Given the description of an element on the screen output the (x, y) to click on. 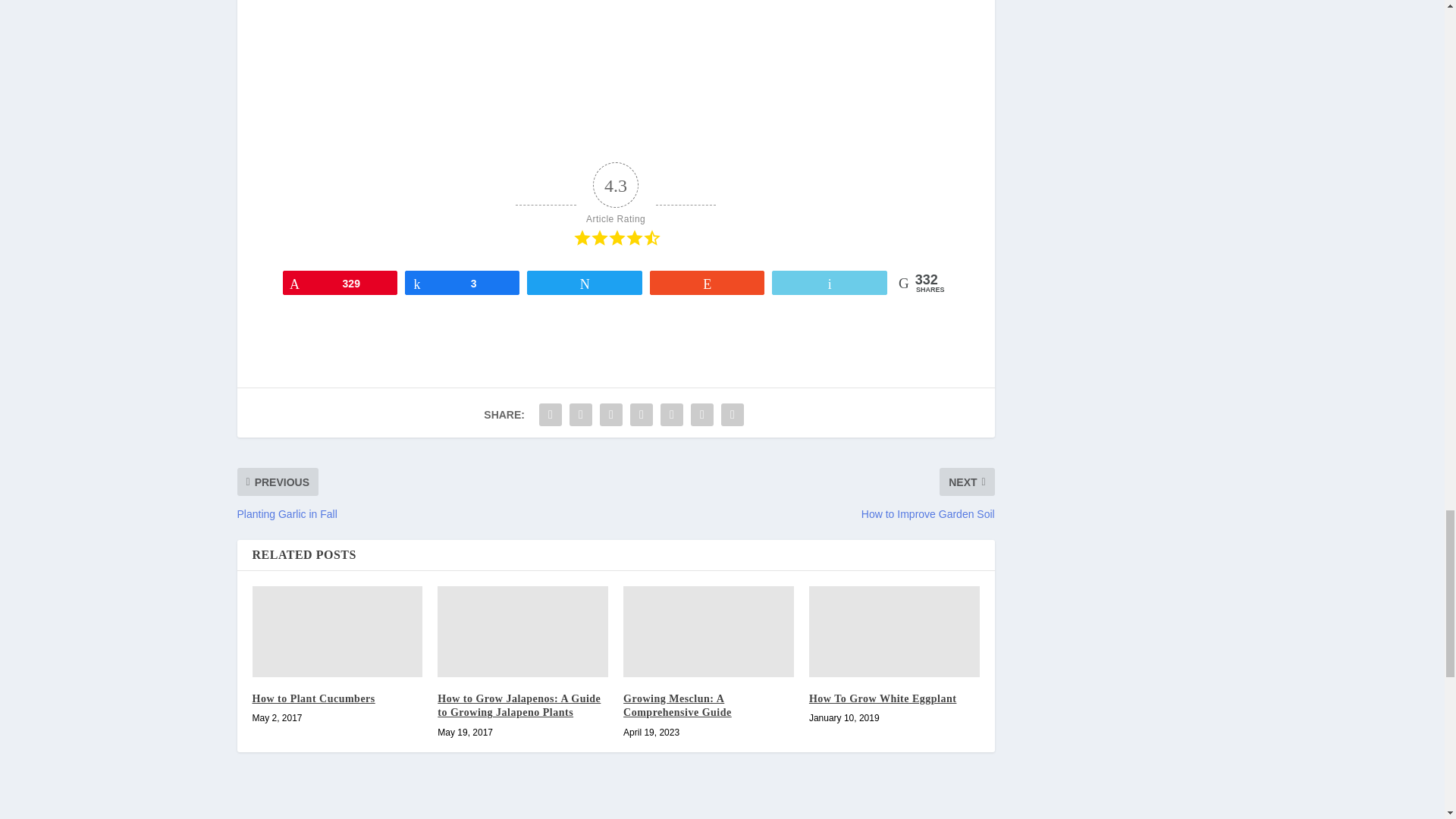
How to Plant Cucumbers (336, 631)
3 (462, 282)
How To Grow White Eggplant (894, 631)
Growing Mesclun: A Comprehensive Guide (708, 631)
